Given the description of an element on the screen output the (x, y) to click on. 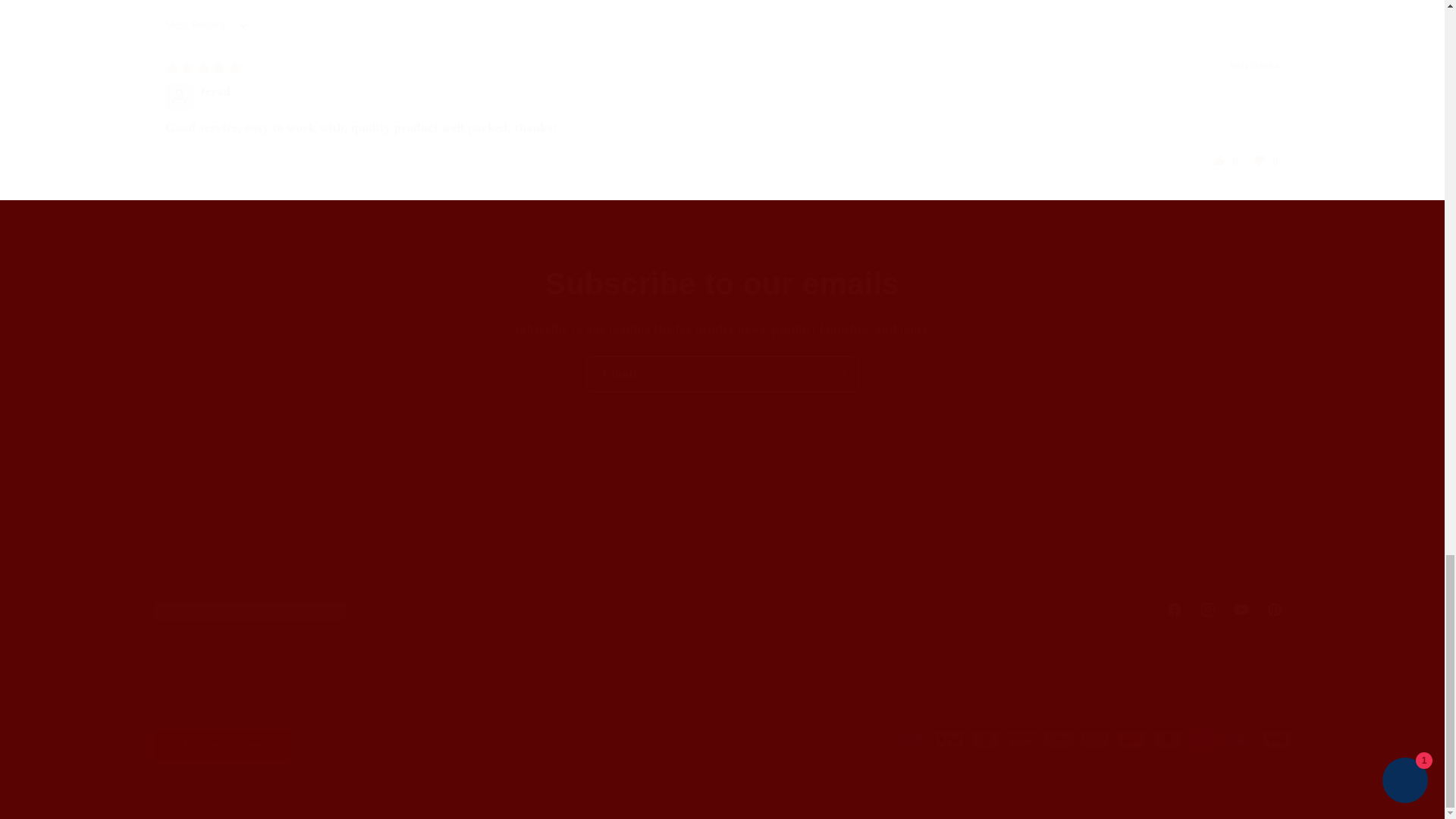
Email (722, 374)
Subscribe to our emails (721, 283)
down (337, 530)
up (1259, 160)
